Given the description of an element on the screen output the (x, y) to click on. 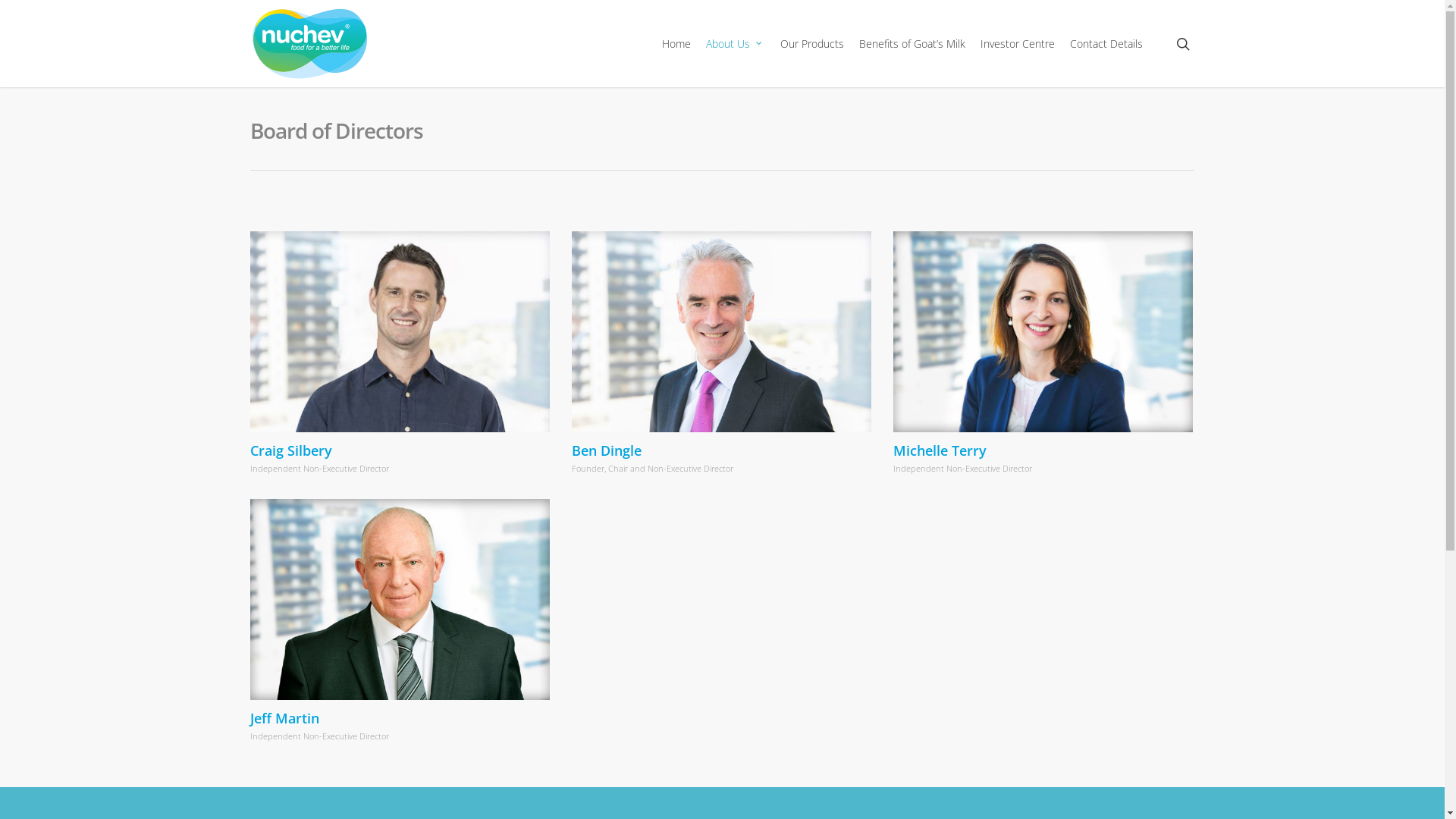
Contact Details Element type: text (1106, 43)
Home Element type: text (676, 43)
About Us Element type: text (735, 43)
Our Products Element type: text (811, 43)
Investor Centre Element type: text (1017, 43)
